Given the description of an element on the screen output the (x, y) to click on. 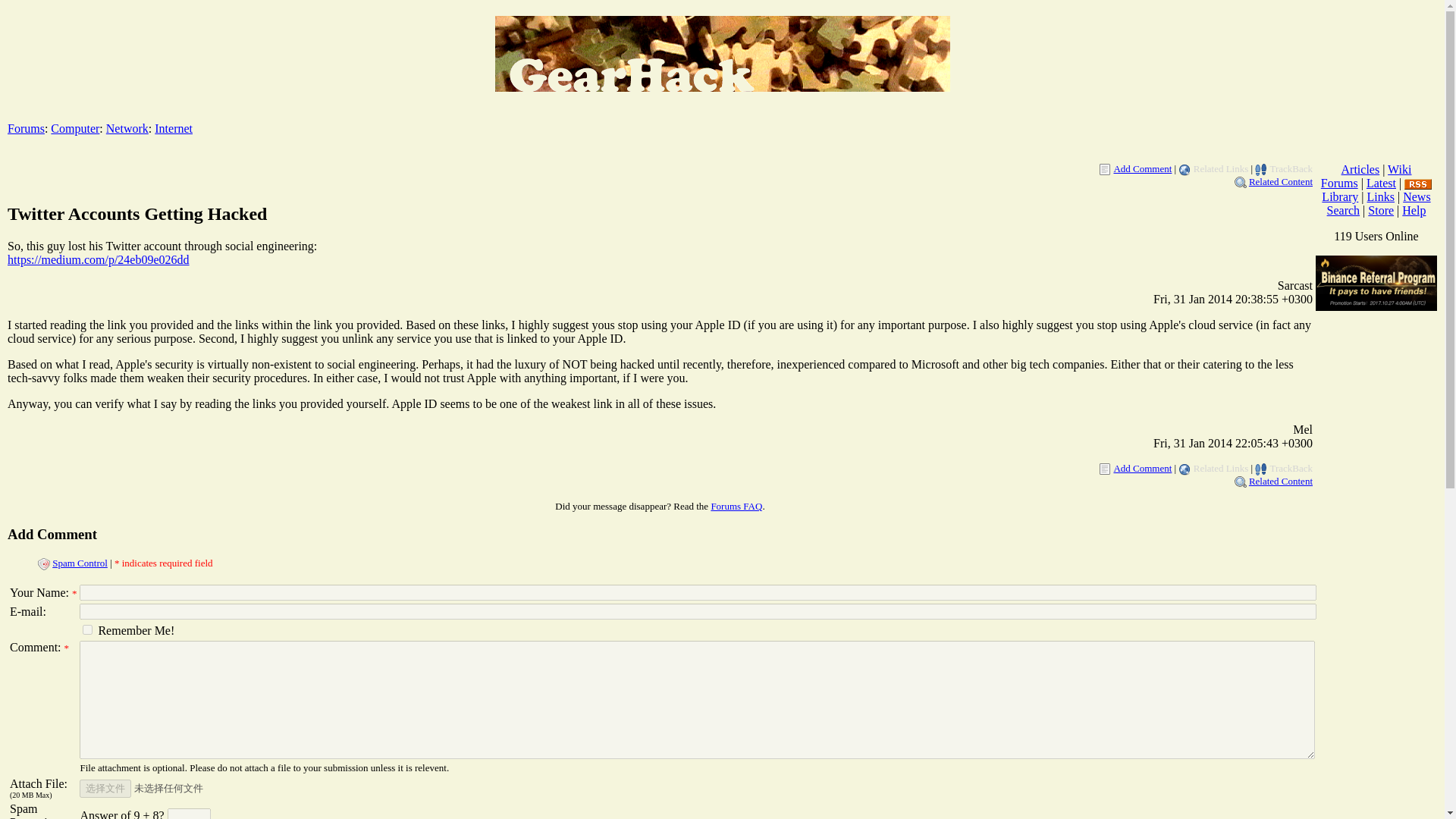
Add Comment (1142, 168)
Network (127, 128)
Latest (1381, 182)
Articles (1360, 169)
Related Content (1281, 480)
Forums (1339, 182)
Computer (74, 128)
Spam Control (79, 562)
News (1416, 196)
Forums FAQ (735, 505)
Search (1342, 210)
Wiki (1398, 169)
Links (1380, 196)
Add Comment (1142, 468)
yes (87, 629)
